Given the description of an element on the screen output the (x, y) to click on. 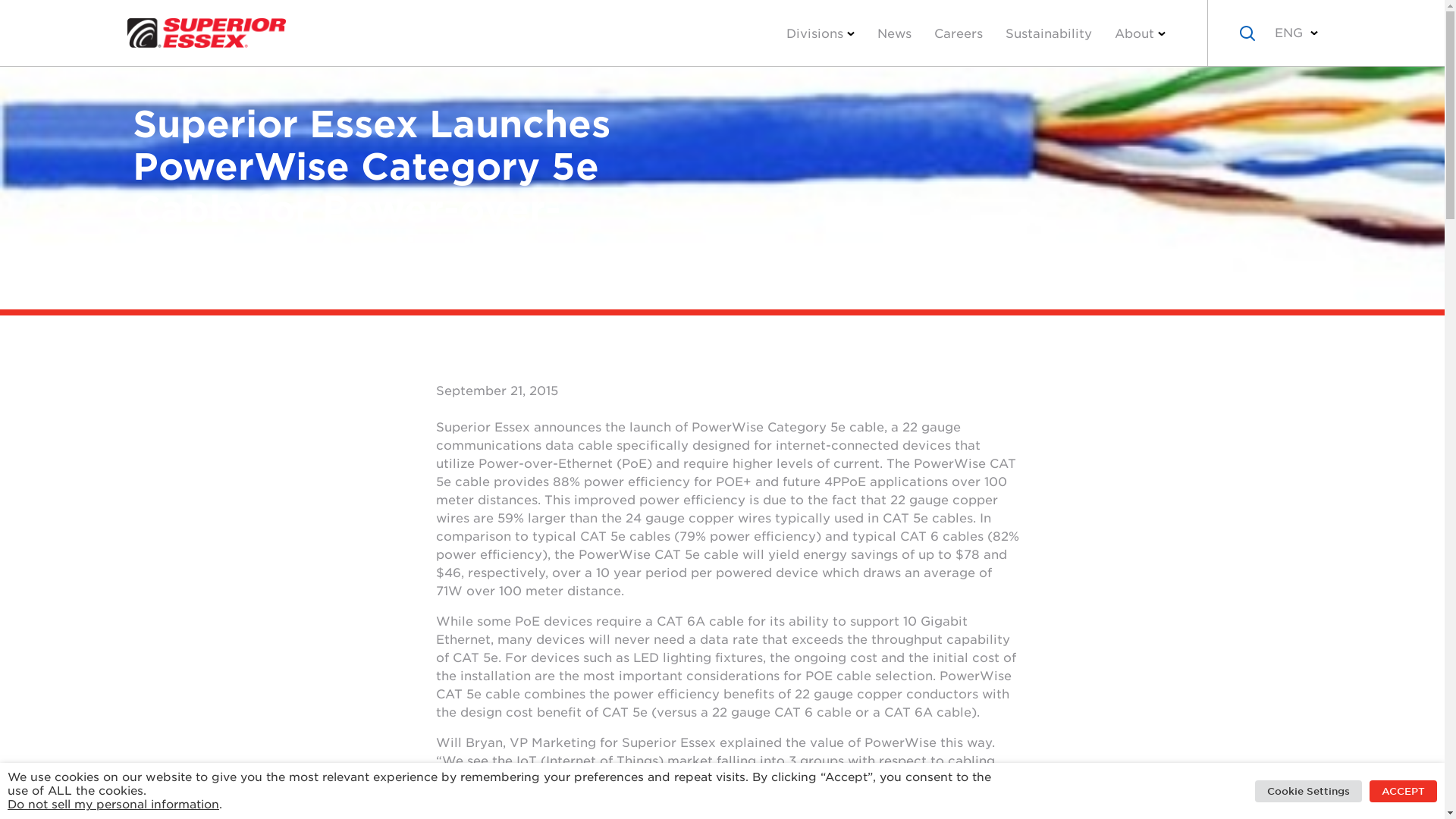
About (1139, 32)
Divisions (820, 32)
Careers (956, 32)
News (894, 32)
Sustainability (1047, 32)
